Given the description of an element on the screen output the (x, y) to click on. 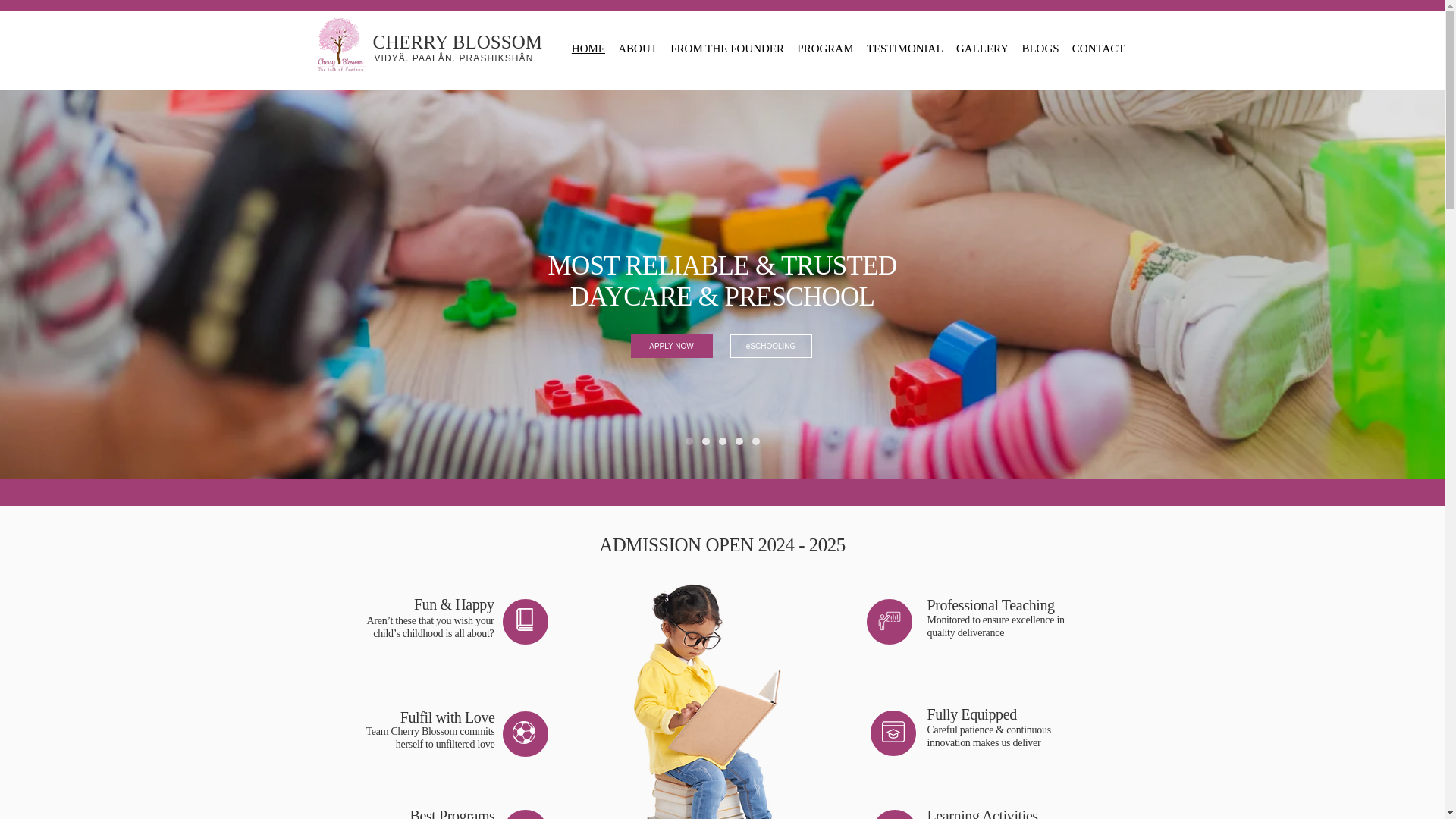
book.png (889, 620)
book.png (892, 731)
PROGRAM (823, 48)
eSCHOOLING (769, 345)
CONTACT (1096, 48)
TESTIMONIAL (902, 48)
HOME (586, 48)
FROM THE FOUNDER (725, 48)
book.png (523, 732)
ABOUT (636, 48)
CHERRY BLOSSOM (456, 41)
BLOGS (1037, 48)
APPLY NOW (671, 345)
book.png (523, 619)
